Given the description of an element on the screen output the (x, y) to click on. 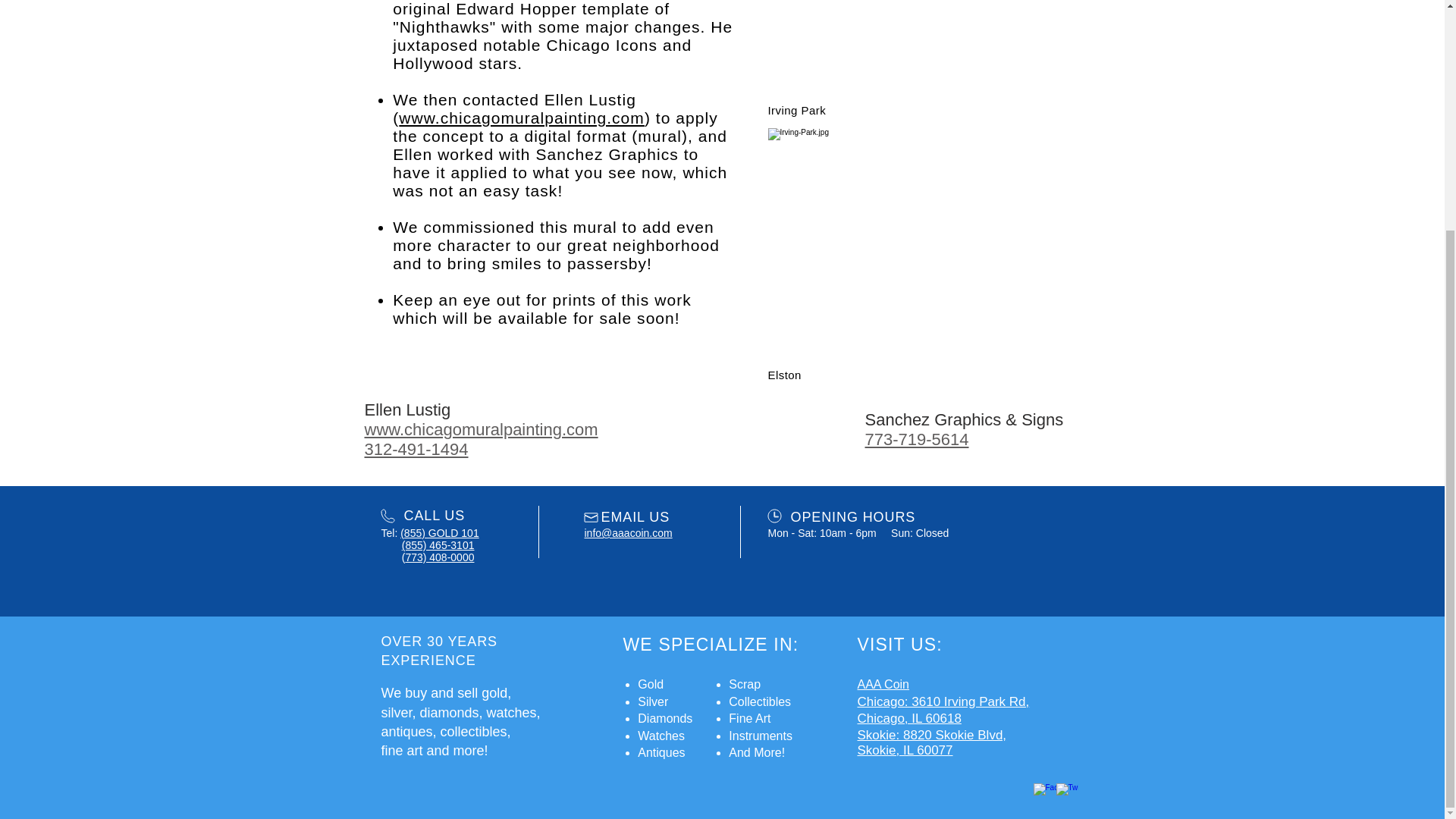
Chicago: 3610 Irving Park Rd, Chicago, IL 60618 (943, 709)
Skokie: 8820 Skokie Blvd, Skokie, IL 60077 (931, 742)
AAA Coin (882, 684)
www.chicagomuralpainting.com (521, 117)
773-719-5614 (916, 438)
www.chicagomuralpainting.com (480, 429)
